Given the description of an element on the screen output the (x, y) to click on. 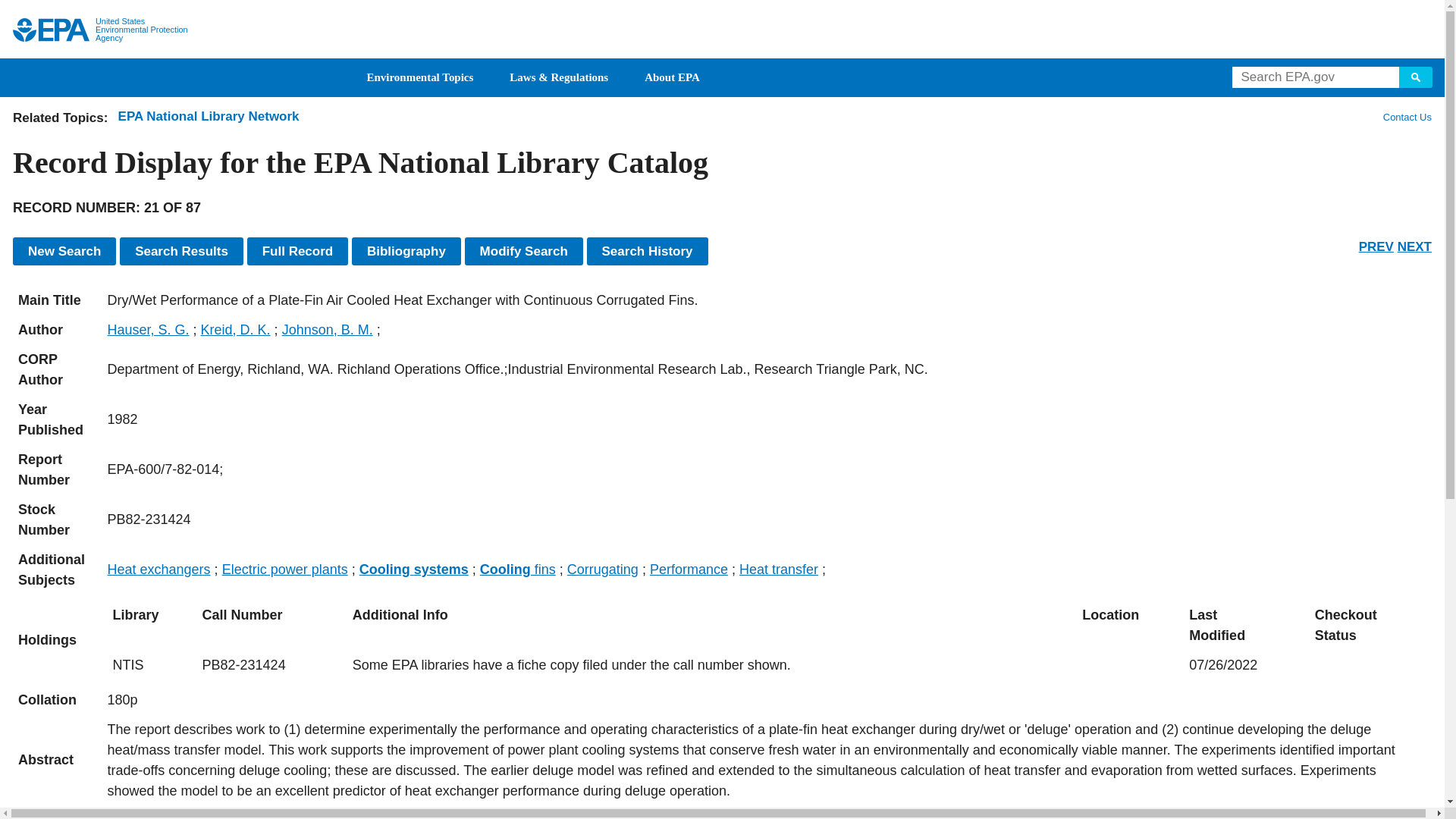
Display Full Record (298, 251)
Your Search History (646, 251)
Bibliography (406, 251)
NEXT (1414, 246)
Jump to main content (723, 9)
Search (1415, 76)
Show results in bibliographic format (406, 251)
Cooling systems (413, 569)
Cooling fins (518, 569)
Show results in standard format (181, 251)
Modify Search (523, 251)
Learn about Environmental Topics that EPA covers. (420, 77)
Kreid, D. K. (235, 329)
Search (1415, 76)
Johnson, B. M. (327, 329)
